Given the description of an element on the screen output the (x, y) to click on. 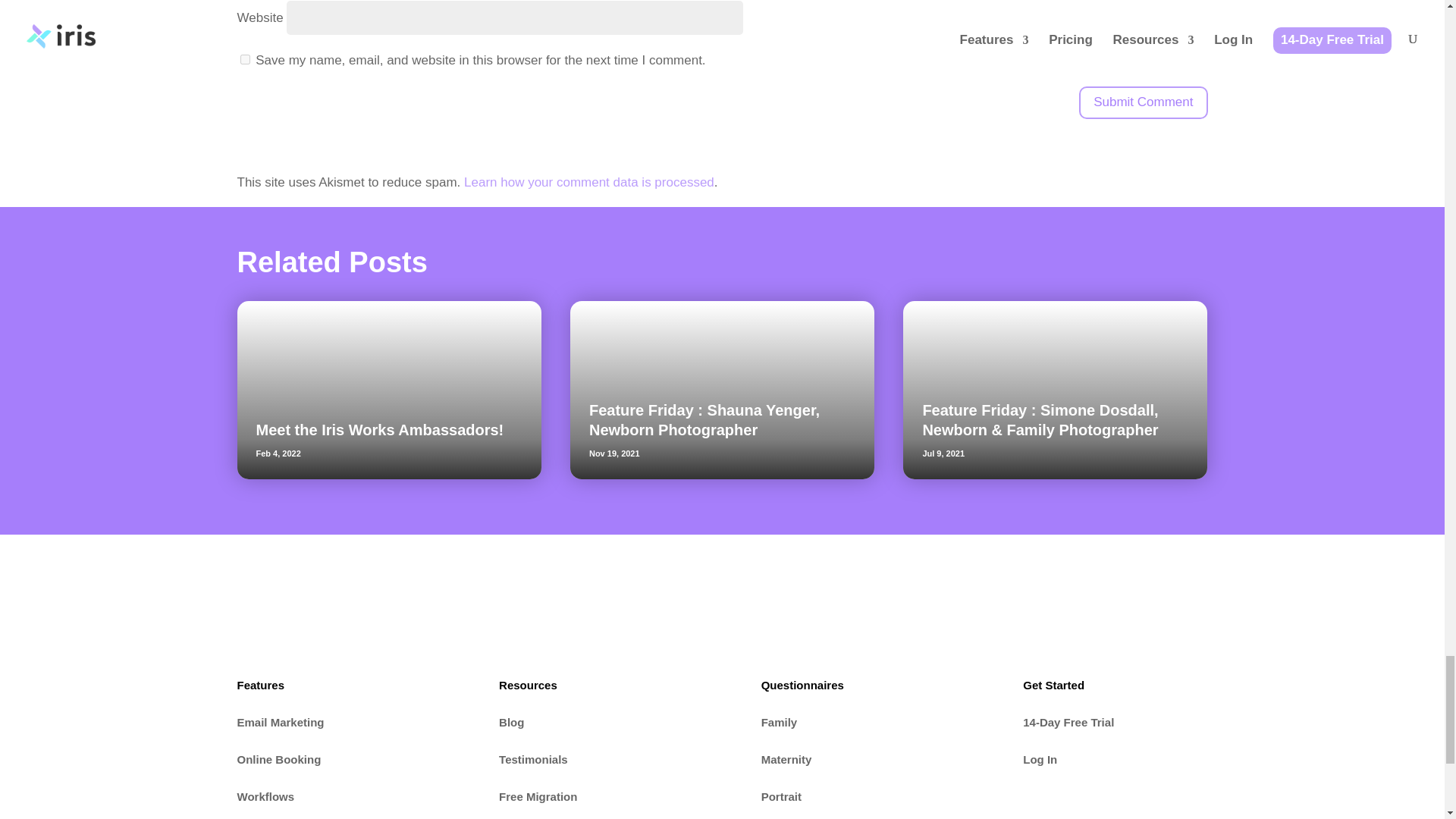
Submit Comment (1142, 102)
Iris Works Photography Studio Management Logo (258, 615)
yes (244, 59)
